Given the description of an element on the screen output the (x, y) to click on. 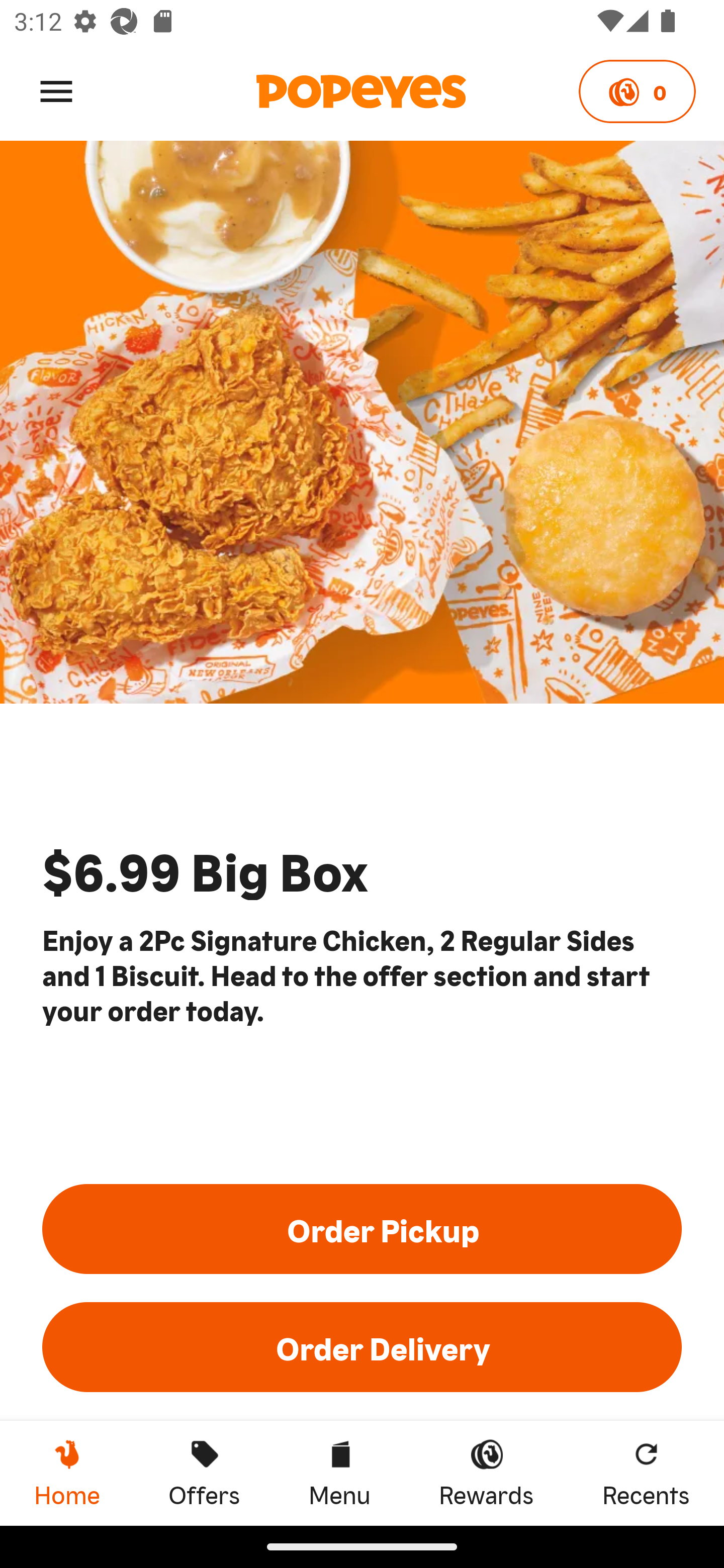
Menu  (56, 90)
0 Points 0 (636, 91)
Order Pickup (361, 1228)
Order Delivery (361, 1346)
Home, current page Home Home, current page (66, 1472)
Offers Offers Offers (203, 1472)
Menu Menu Menu (339, 1472)
Rewards Rewards Rewards (486, 1472)
Recents Recents Recents (646, 1472)
